Given the description of an element on the screen output the (x, y) to click on. 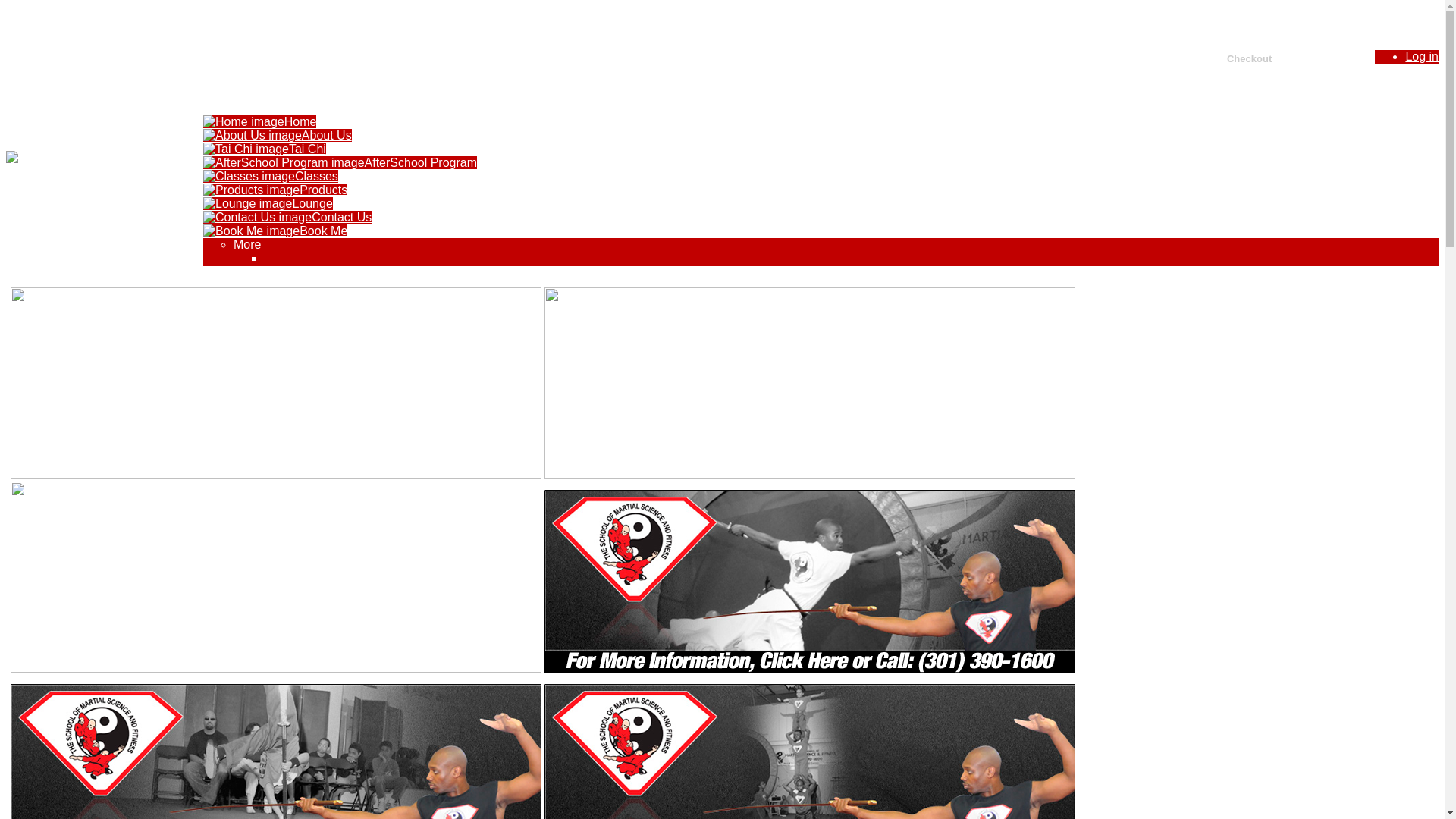
Log in Element type: text (1421, 56)
About Us Element type: text (277, 134)
Home Element type: hover (53, 156)
Checkout Element type: text (1250, 58)
Skip to main content Element type: text (737, 18)
Lounge Element type: text (267, 203)
Classes Element type: text (270, 175)
0 Element type: text (1298, 44)
Home Element type: text (259, 121)
AfterSchool Program Element type: text (339, 162)
Products Element type: text (275, 189)
Tai Chi Element type: text (264, 148)
Contact Us Element type: text (287, 216)
Book Me Element type: text (275, 230)
